Given the description of an element on the screen output the (x, y) to click on. 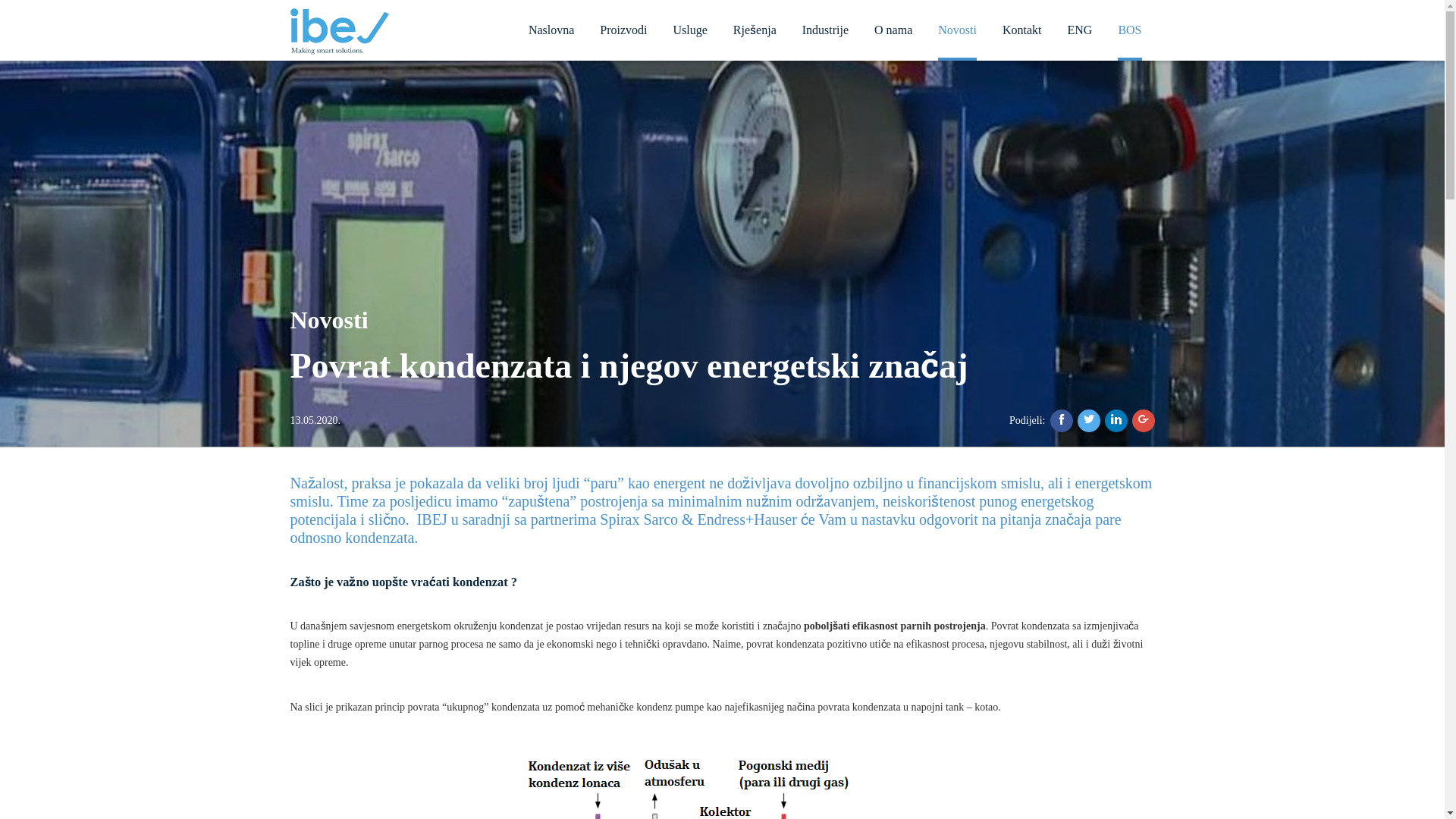
Industrije Element type: text (825, 29)
Naslovna Element type: text (551, 29)
O nama Element type: text (893, 29)
Podijeli na Facebook Element type: hover (1060, 420)
Proizvodi Element type: text (622, 29)
ENG Element type: text (1079, 29)
Podijeli na LinkedIn Element type: hover (1115, 420)
Podijeli na Twitter Element type: hover (1087, 420)
Kontakt Element type: text (1021, 29)
Novosti Element type: text (957, 30)
Podijeli na Google+ Element type: hover (1142, 420)
Usluge Element type: text (690, 29)
BOS Element type: text (1129, 30)
